Given the description of an element on the screen output the (x, y) to click on. 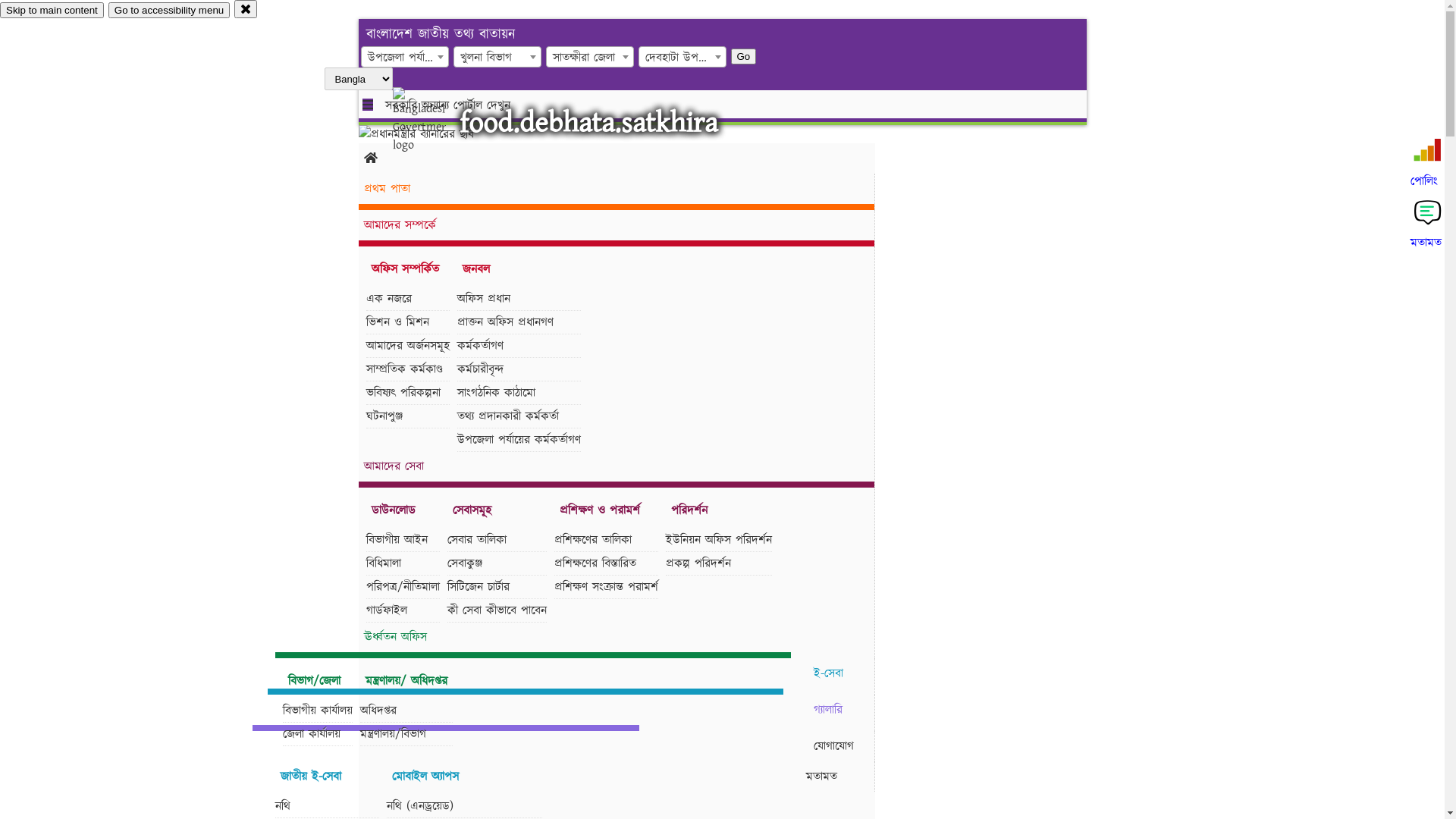
Go to accessibility menu Element type: text (168, 10)

                
             Element type: hover (431, 120)
food.debhata.satkhira Element type: text (588, 123)
Skip to main content Element type: text (51, 10)
Go Element type: text (743, 56)
close Element type: hover (245, 9)
